Given the description of an element on the screen output the (x, y) to click on. 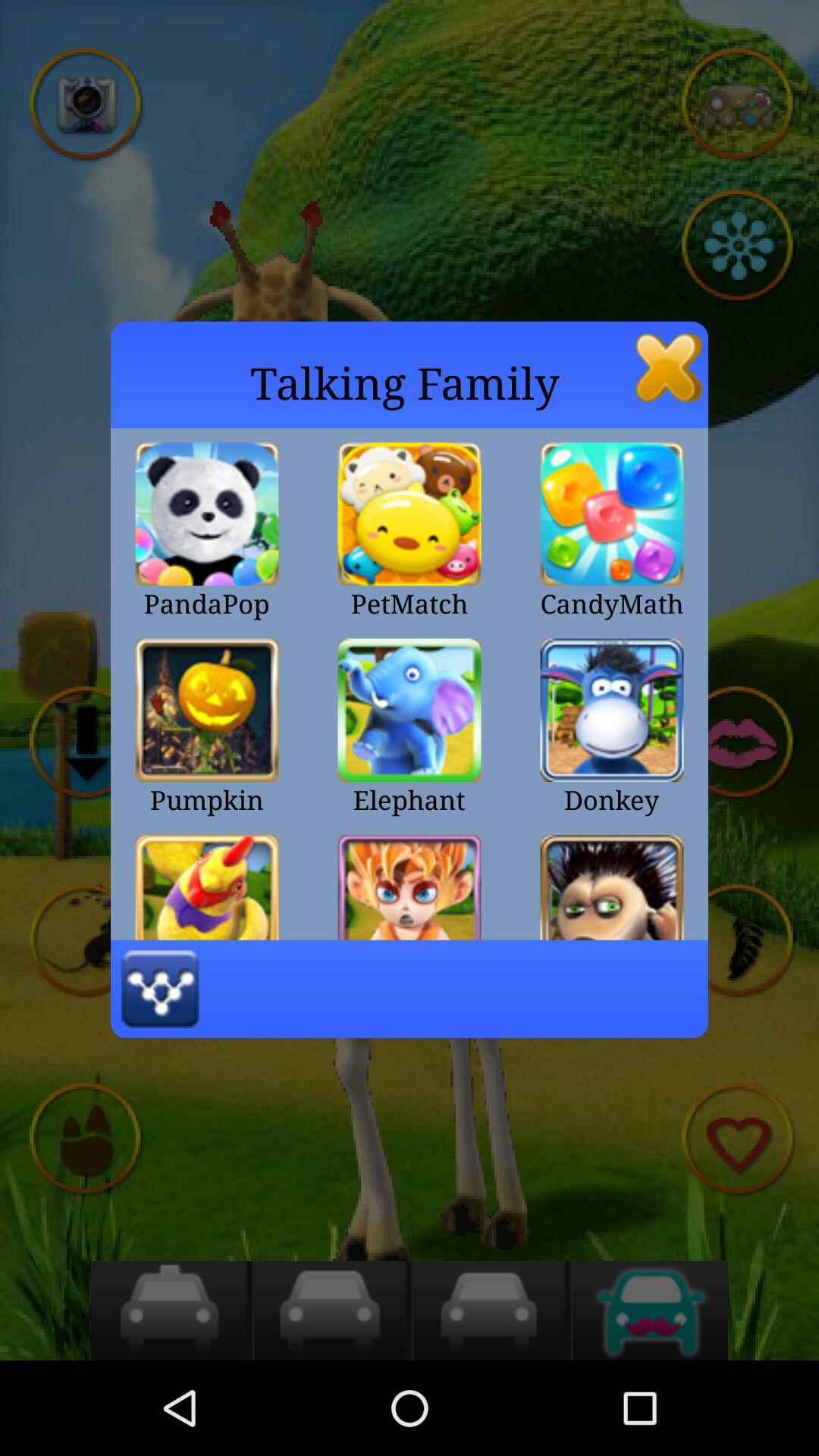
go to close option (668, 367)
